Given the description of an element on the screen output the (x, y) to click on. 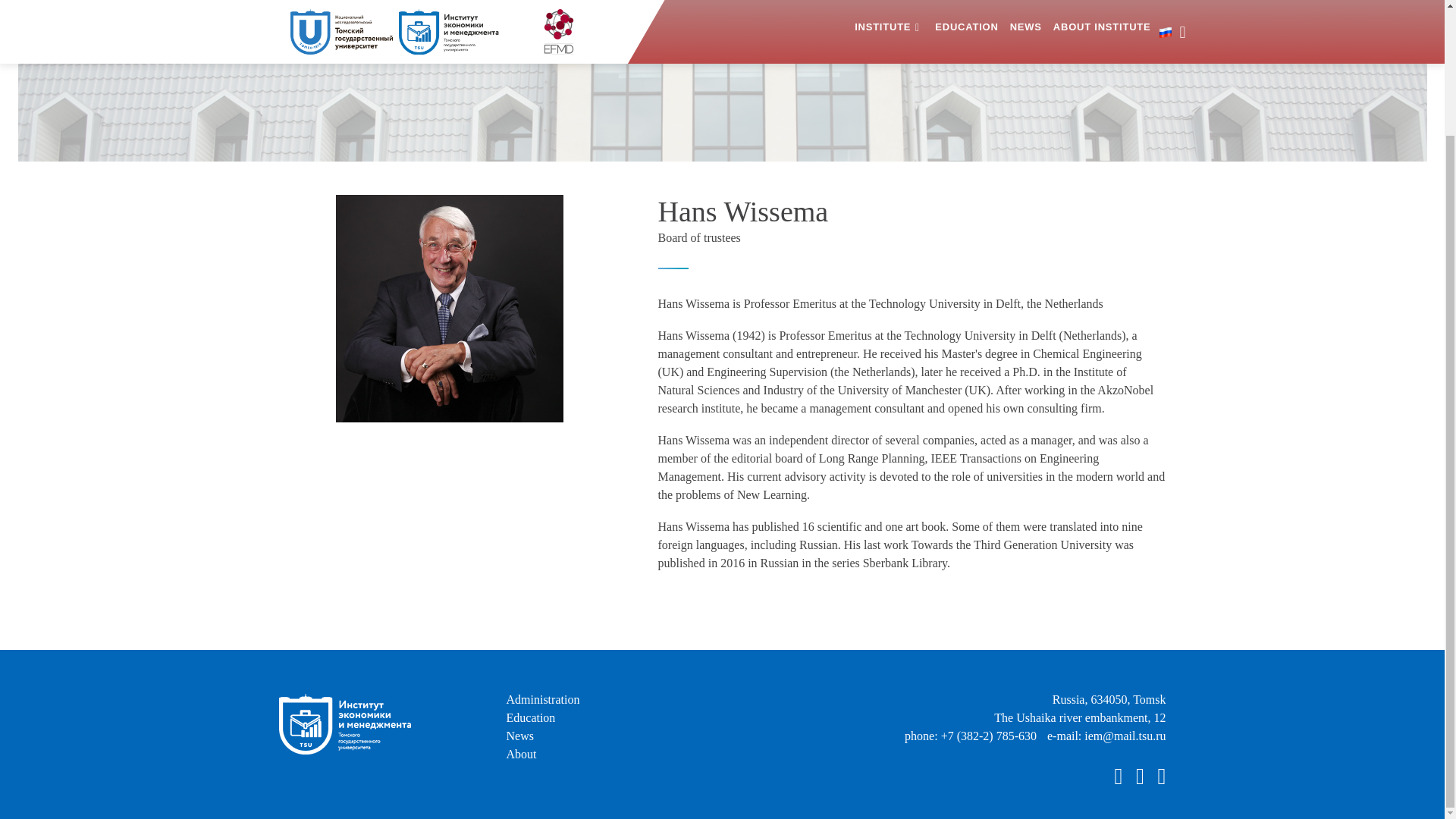
Education (531, 717)
Administration (542, 698)
Hans Wissema (448, 308)
Home (660, 57)
Person (702, 57)
Person (702, 57)
Board of trustees (699, 237)
Home (660, 57)
About (521, 753)
News (520, 735)
